Given the description of an element on the screen output the (x, y) to click on. 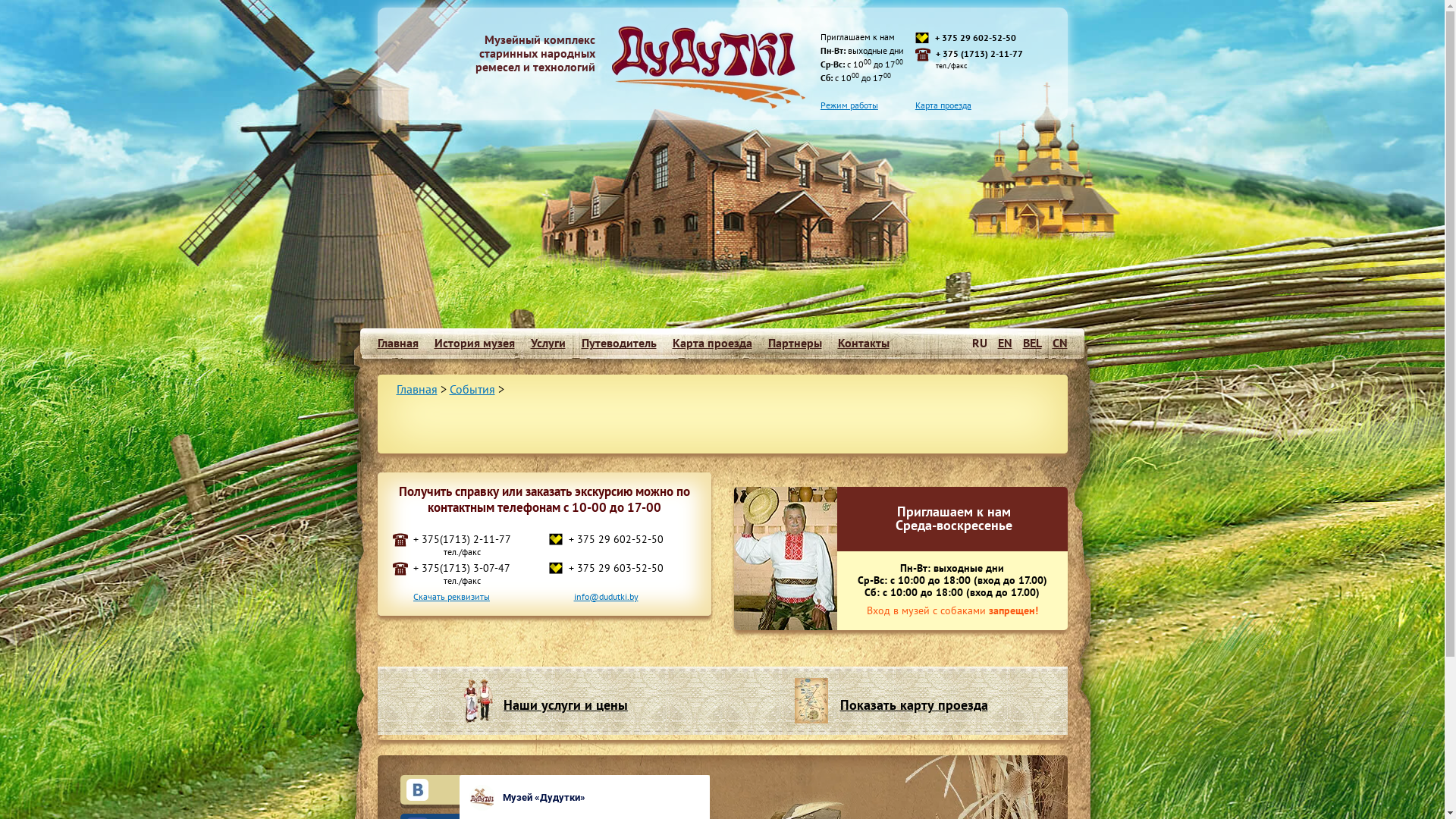
BEL Element type: text (1031, 342)
info@dudutki.by Element type: text (605, 596)
CN Element type: text (1059, 342)
EN Element type: text (1004, 342)
